Given the description of an element on the screen output the (x, y) to click on. 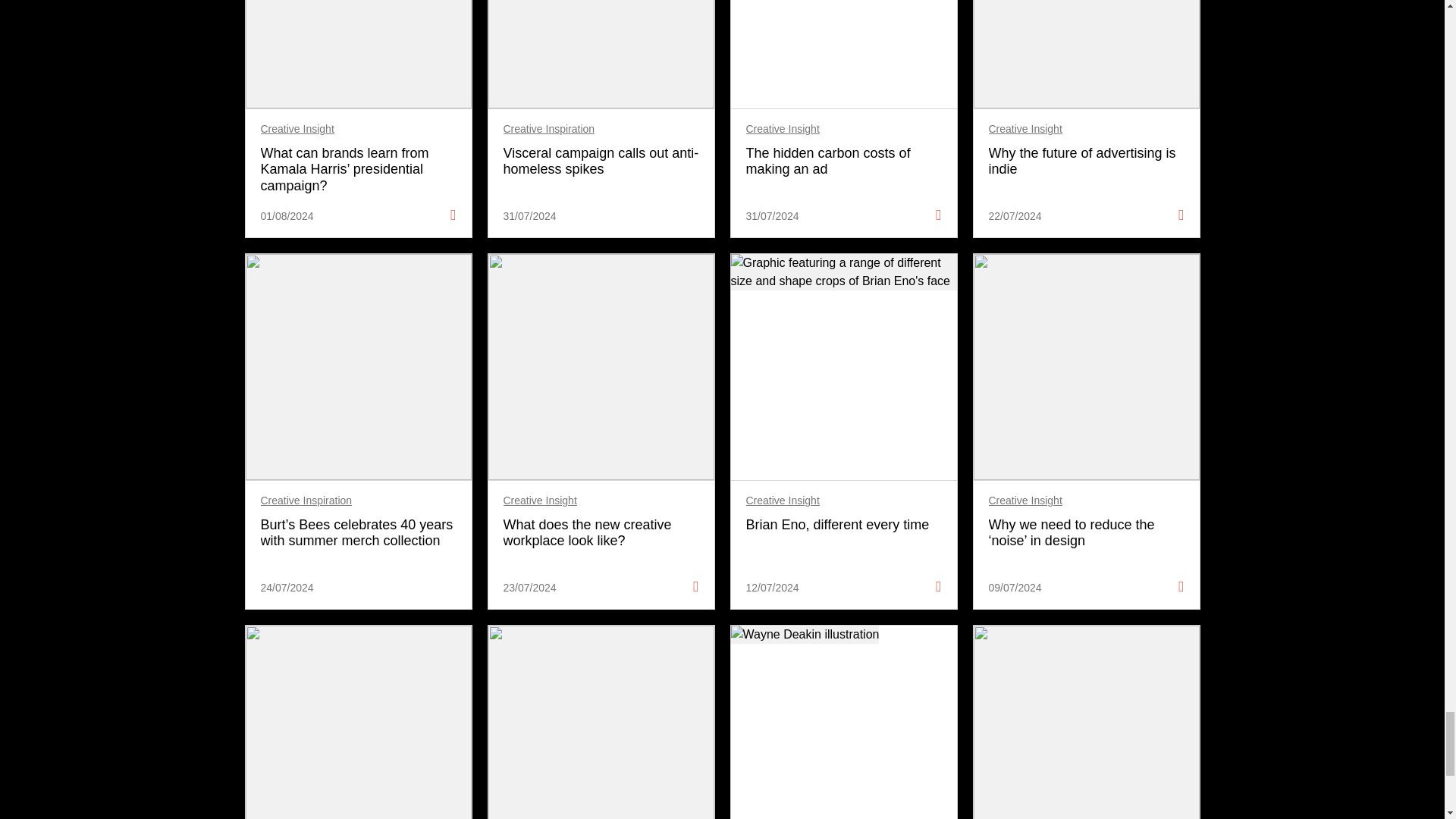
Creative Insight (297, 128)
Creative Inspiration (549, 128)
Visceral campaign calls out anti-homeless spikes (600, 161)
